Given the description of an element on the screen output the (x, y) to click on. 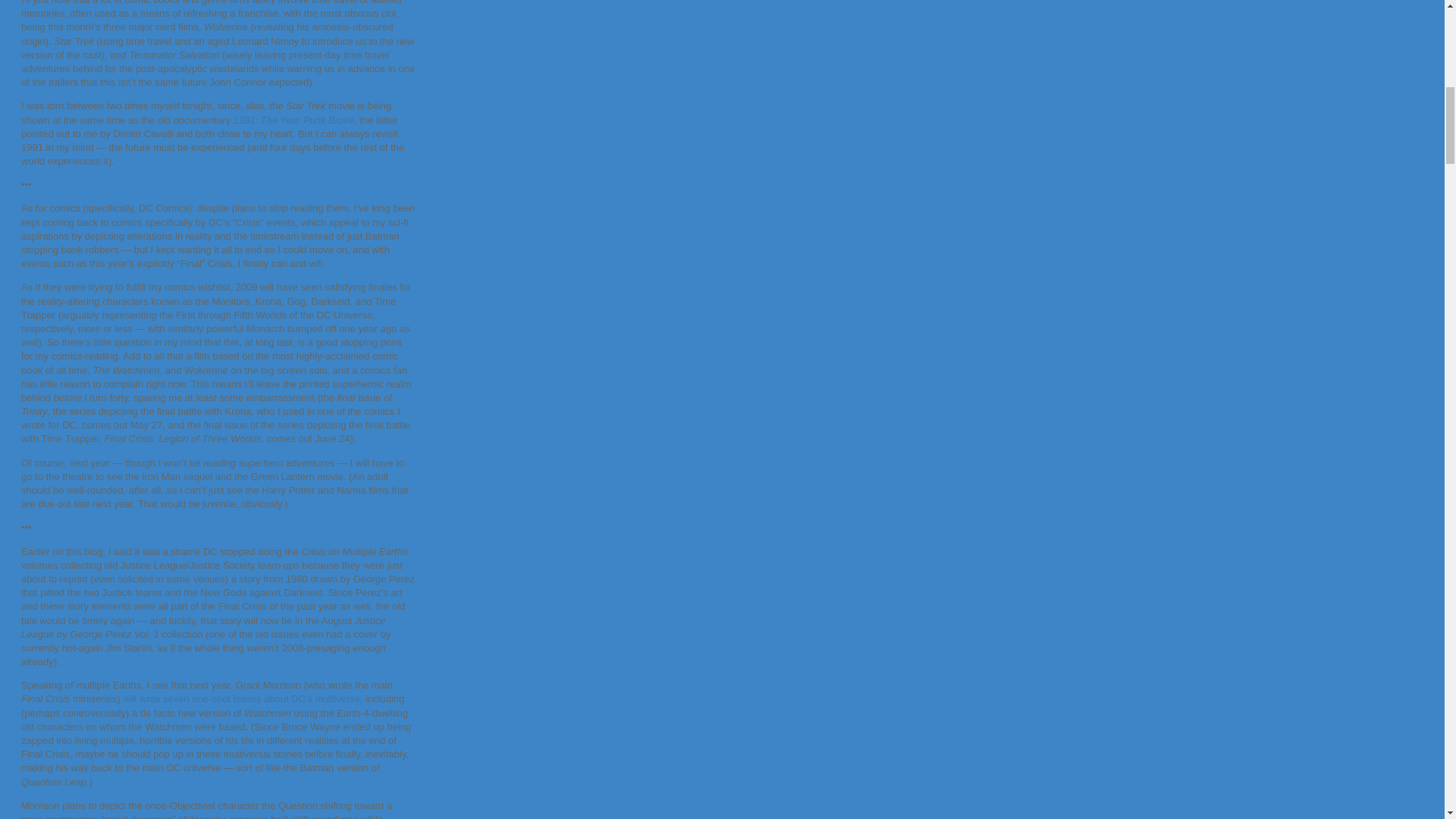
1991: The Year Punk Broke (292, 119)
